Given the description of an element on the screen output the (x, y) to click on. 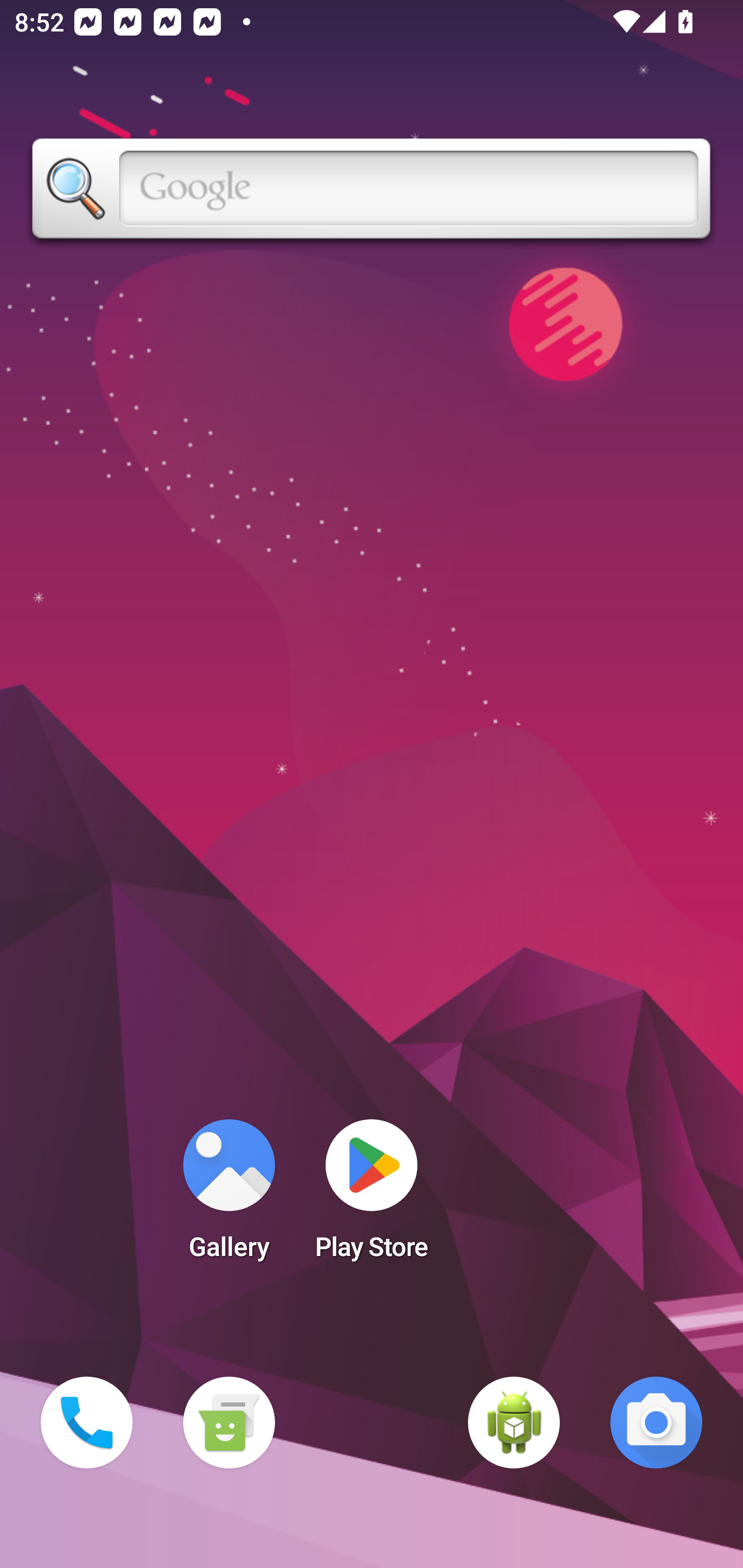
Gallery (228, 1195)
Play Store (371, 1195)
Phone (86, 1422)
Messaging (228, 1422)
WebView Browser Tester (513, 1422)
Camera (656, 1422)
